Given the description of an element on the screen output the (x, y) to click on. 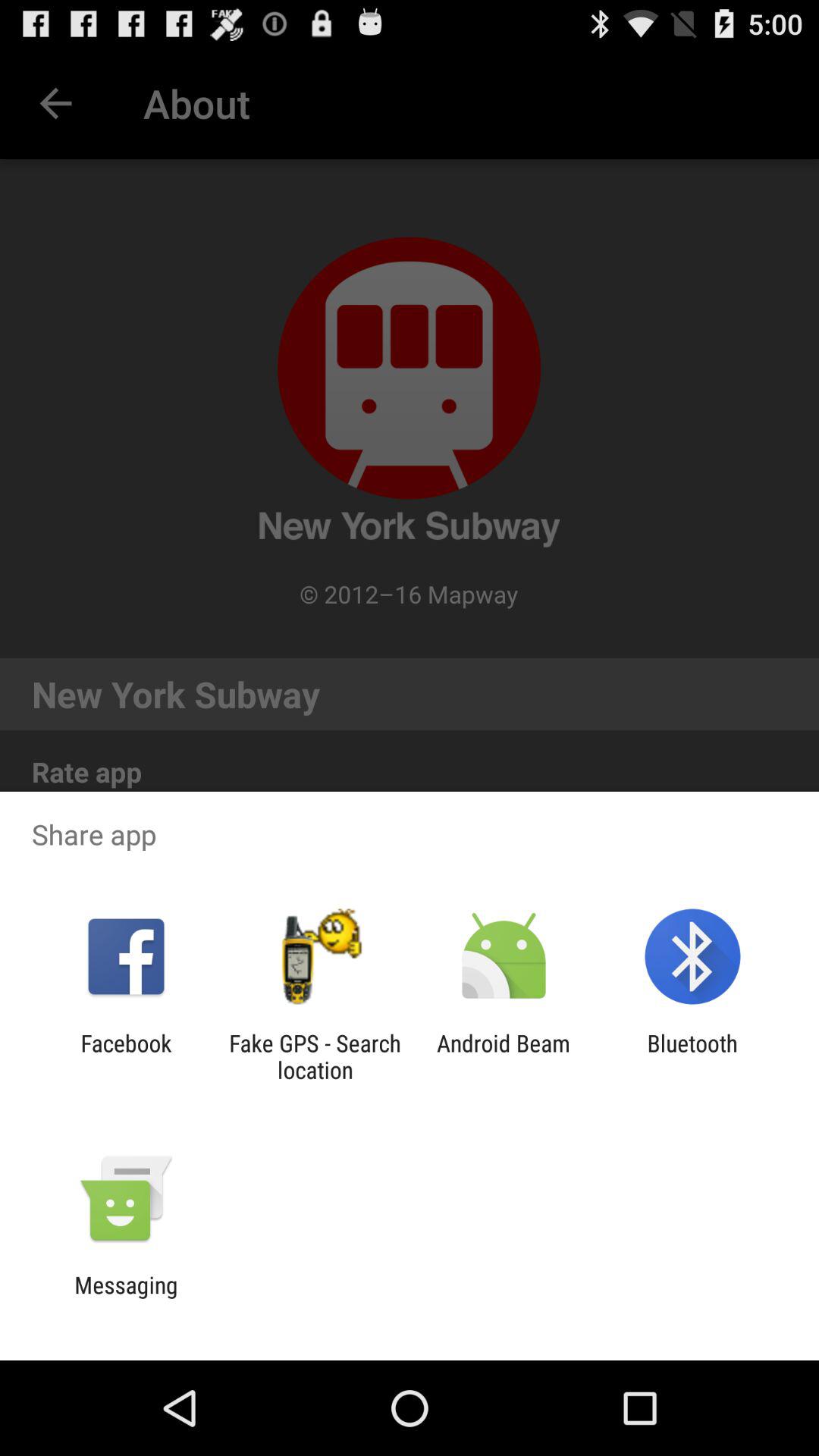
choose icon next to the android beam (314, 1056)
